Given the description of an element on the screen output the (x, y) to click on. 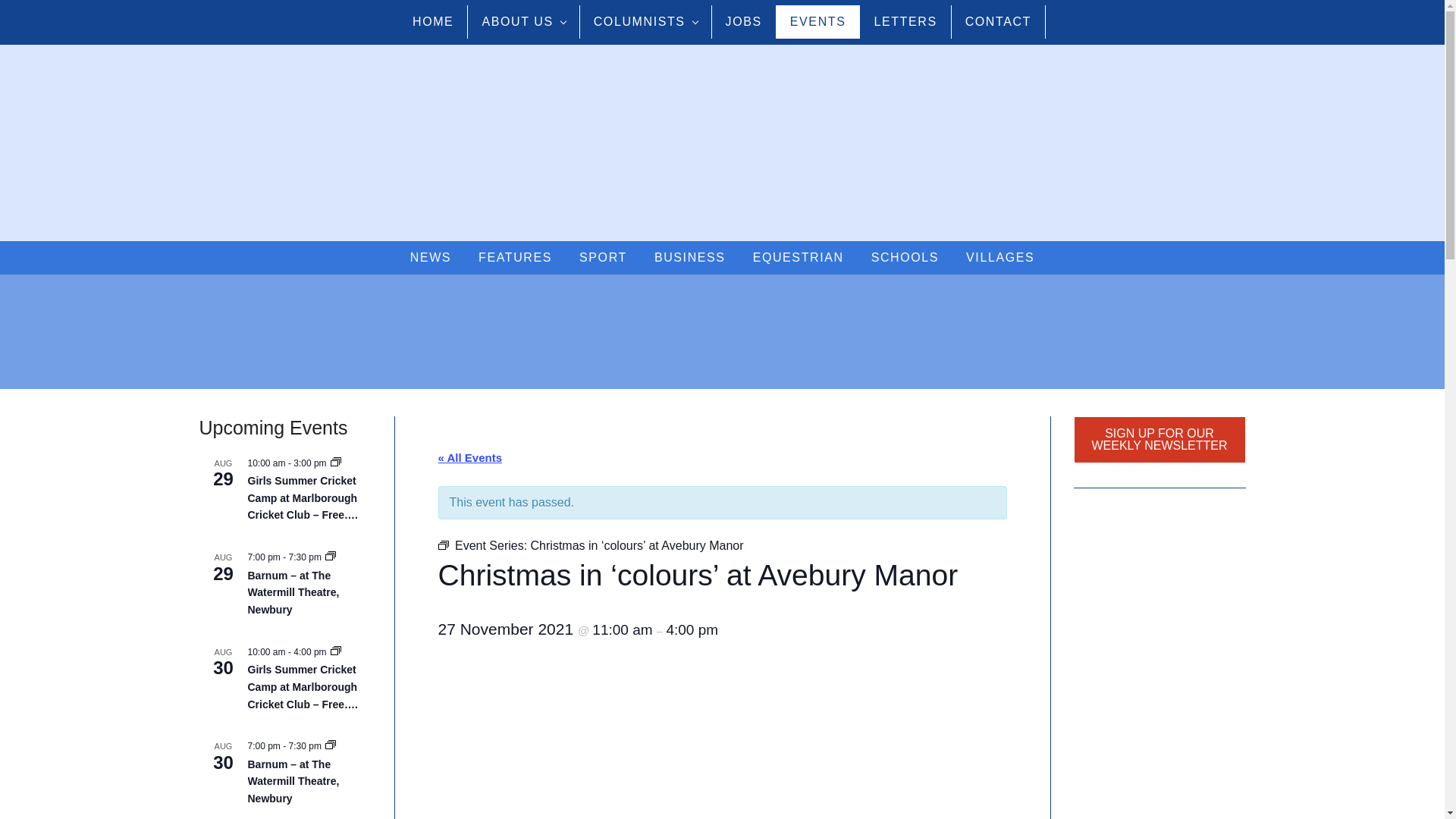
JOBS (743, 21)
Event Series (330, 557)
COLUMNISTS (645, 21)
Event Series (443, 544)
Event Series (335, 462)
LETTERS (905, 21)
CONTACT (998, 21)
Event Series (330, 746)
HOME (432, 21)
ABOUT US (523, 21)
